Given the description of an element on the screen output the (x, y) to click on. 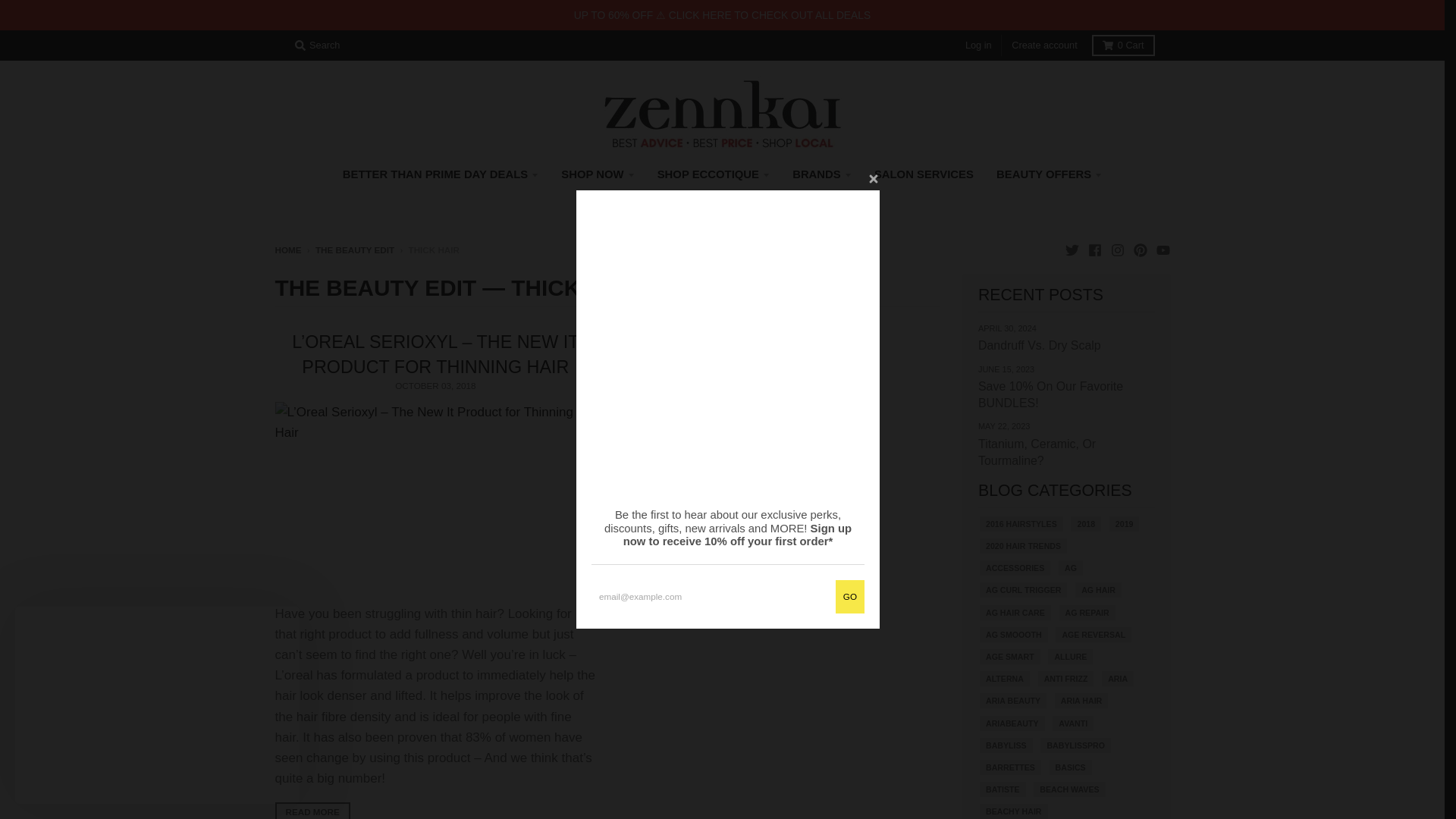
Pinterest - Zennkai (1139, 249)
Instagram - Zennkai (1116, 249)
Twitter - Zennkai (1071, 249)
Create account (1044, 45)
Search (316, 45)
Facebook - Zennkai (1093, 249)
YouTube - Zennkai (1162, 249)
0 Cart (1123, 45)
Log in (977, 45)
BETTER THAN PRIME DAY DEALS (440, 174)
SHOP NOW (597, 174)
Back to the frontpage (288, 249)
